Given the description of an element on the screen output the (x, y) to click on. 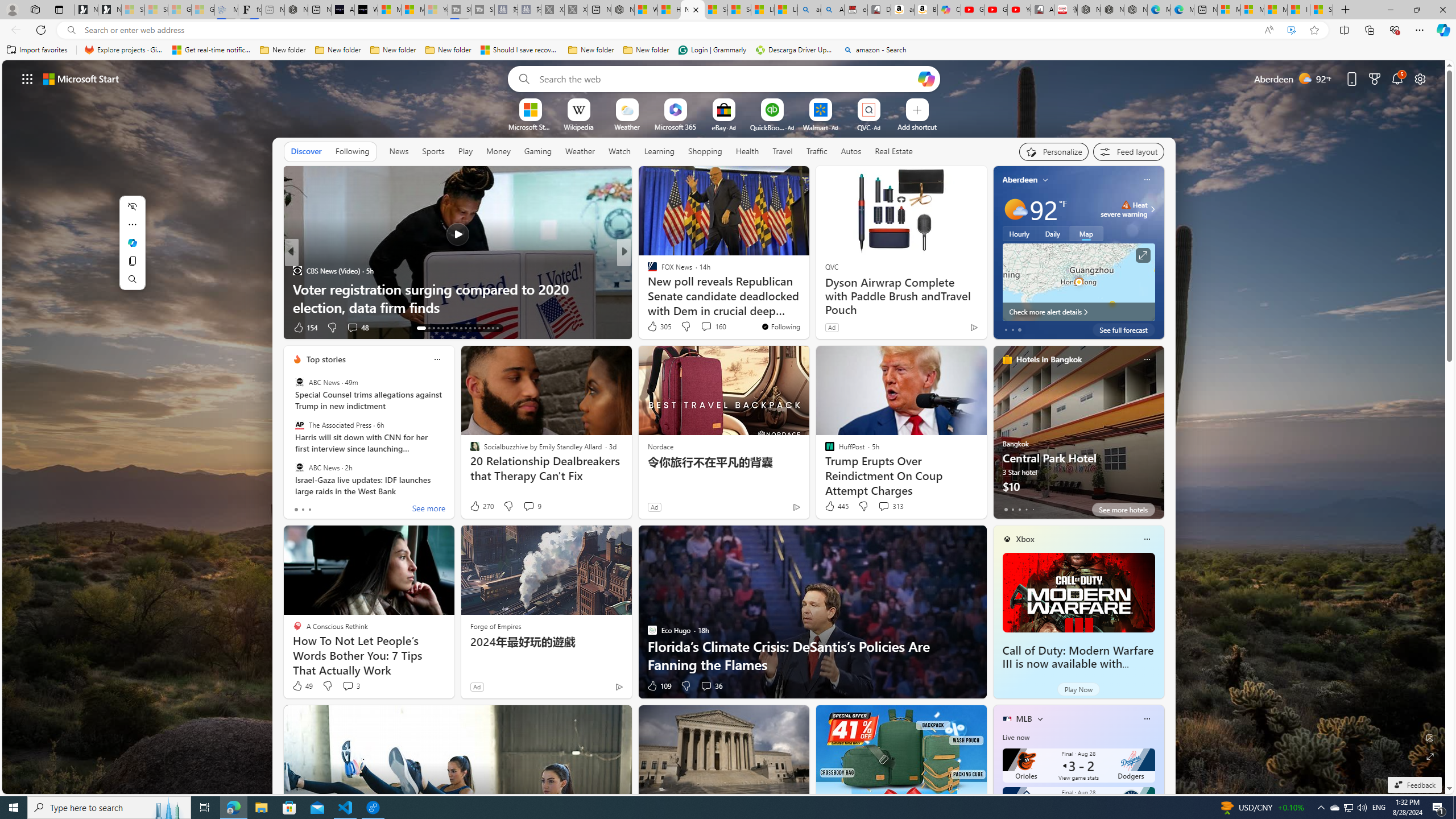
AutomationID: tab-43 (497, 328)
App bar (728, 29)
Nordace (659, 446)
Mostly sunny (1014, 208)
News (398, 151)
Page settings (1420, 78)
It's officially the end for Windows 10! (807, 307)
Microsoft rewards (1374, 78)
49 Like (301, 685)
See more hotels (1123, 509)
Real Estate (893, 151)
Close tab (695, 9)
amazon - Search (809, 9)
